Given the description of an element on the screen output the (x, y) to click on. 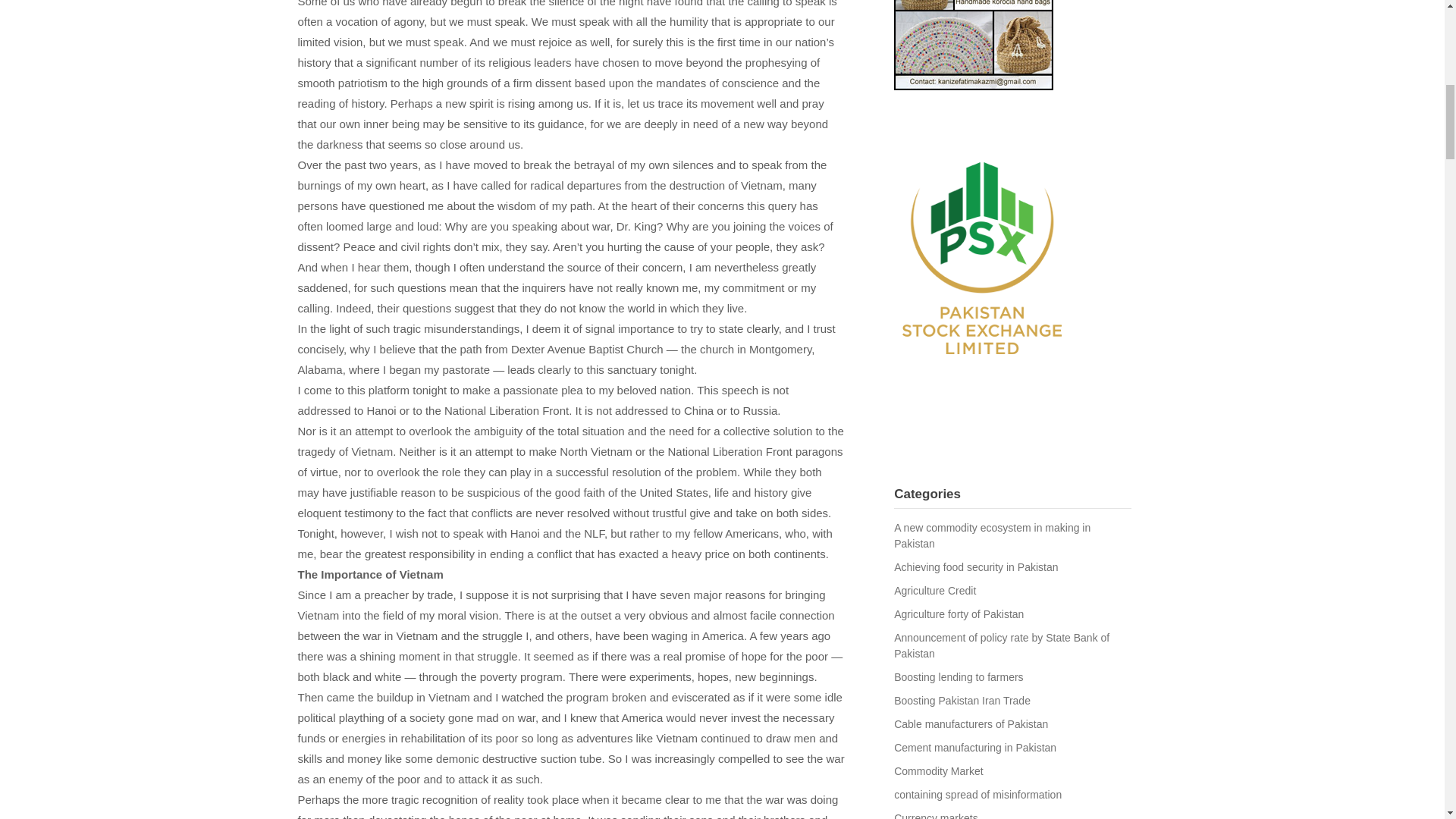
Agriculture forty of Pakistan (958, 613)
Achieving food security in Pakistan (975, 567)
Commodity Market (937, 770)
Agriculture Credit (934, 590)
Currency markets (934, 815)
containing spread of misinformation (977, 794)
Cable manufacturers of Pakistan (970, 724)
Boosting lending to farmers (958, 676)
Boosting Pakistan Iran Trade (961, 700)
A new commodity ecosystem in making in Pakistan (991, 535)
